Given the description of an element on the screen output the (x, y) to click on. 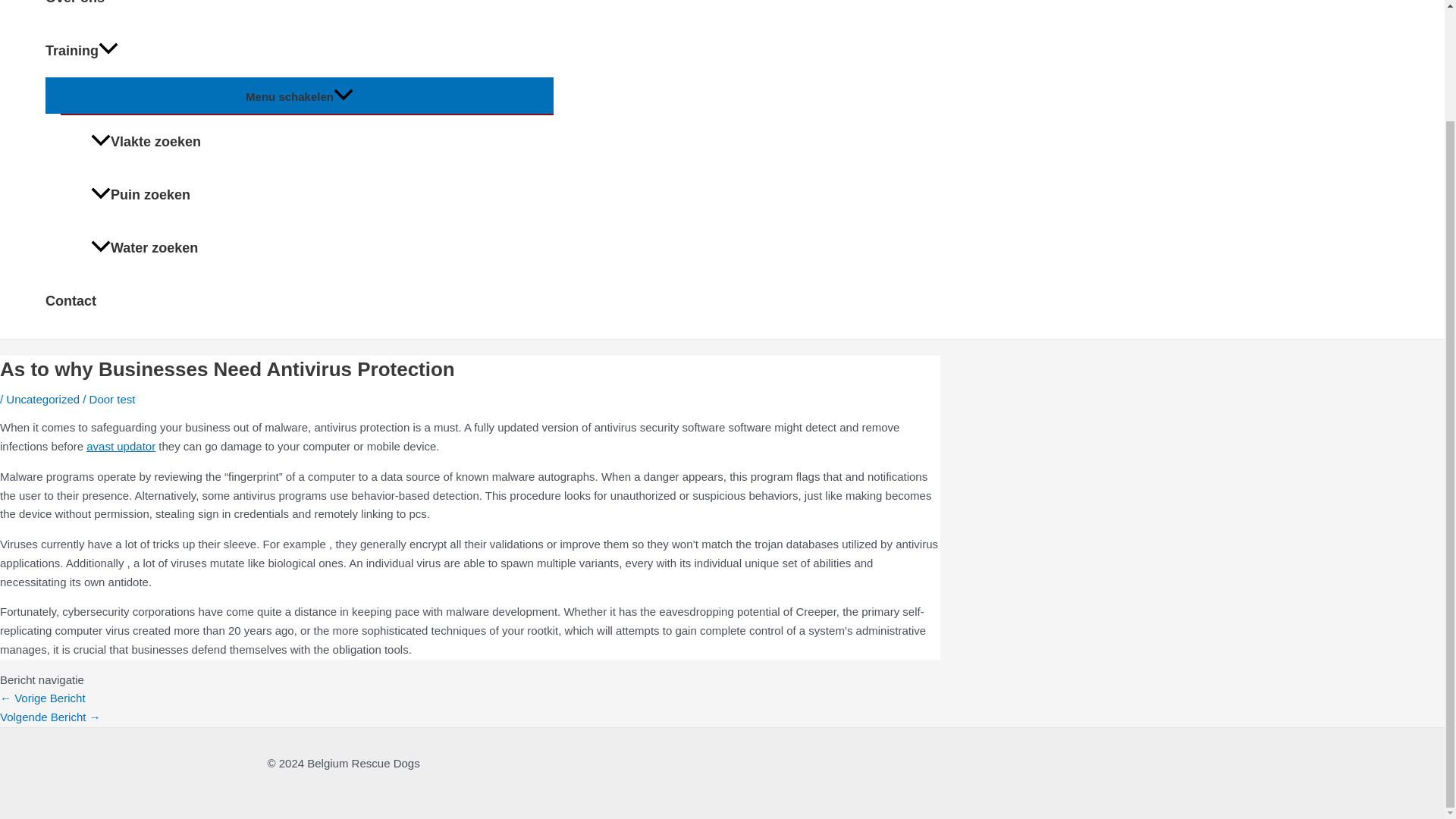
Onlyfans Twitch Streamers  - OnlyFans  Online (42, 697)
Puin zoeken (321, 194)
Menu schakelen (299, 94)
Contact (299, 300)
Bekijk alle berichten van test (125, 398)
Water zoeken (321, 247)
Uncategorized (42, 398)
test (125, 398)
Training (299, 49)
Vlakte zoeken (321, 141)
Over ons (299, 11)
avast updator (120, 445)
